Given the description of an element on the screen output the (x, y) to click on. 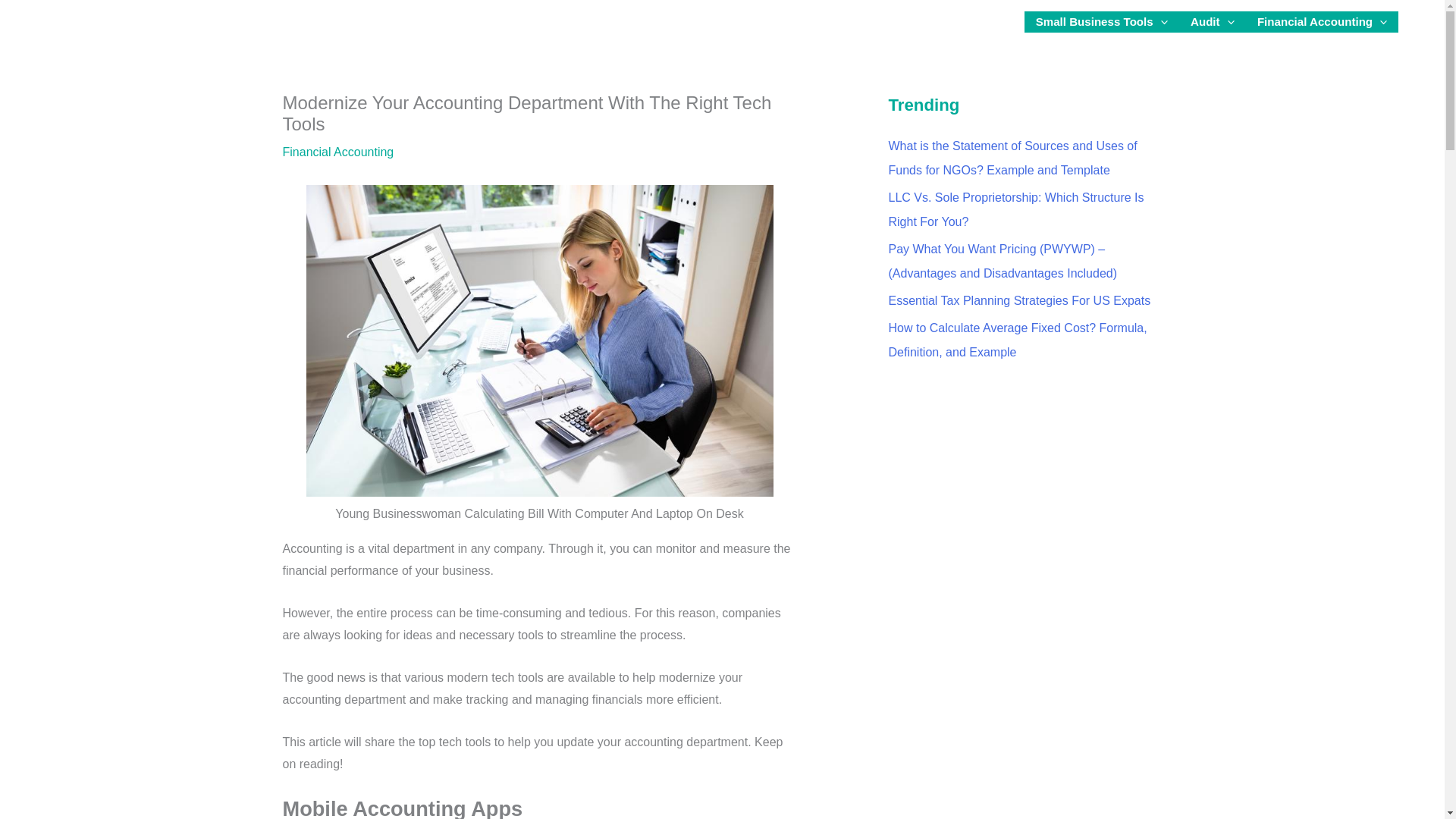
Small Business Tools (797, 24)
Audit (920, 24)
Wikiaccounting (353, 23)
Financial Accounting (1043, 24)
